Given the description of an element on the screen output the (x, y) to click on. 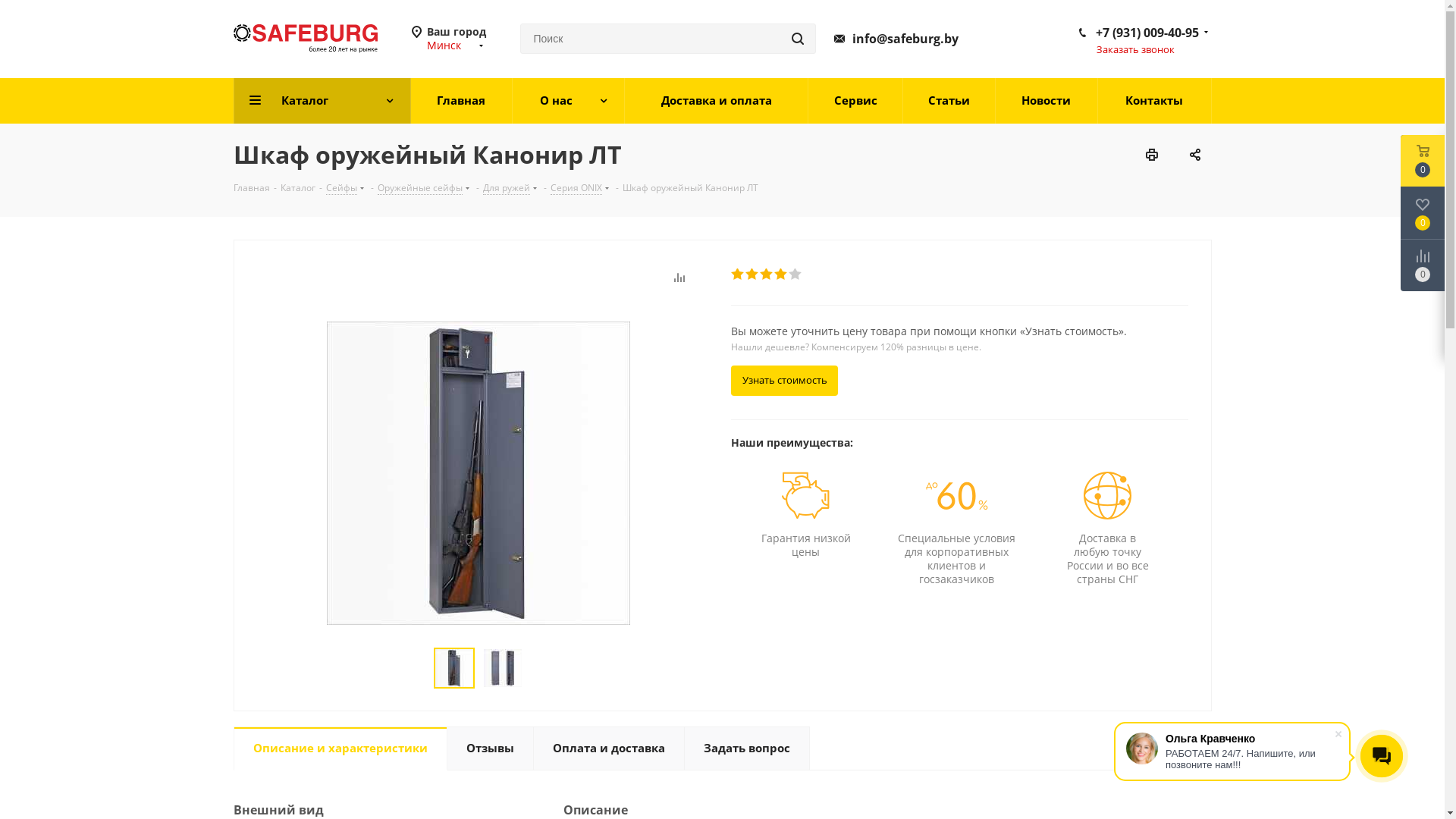
+7 (931) 009-40-95 Element type: text (1146, 32)
4 Element type: hover (780, 274)
3 Element type: hover (766, 274)
info@safeburg.by Element type: text (896, 38)
1 Element type: hover (738, 274)
5 Element type: hover (795, 274)
safeburg.ru Element type: hover (305, 38)
2 Element type: hover (751, 274)
